Given the description of an element on the screen output the (x, y) to click on. 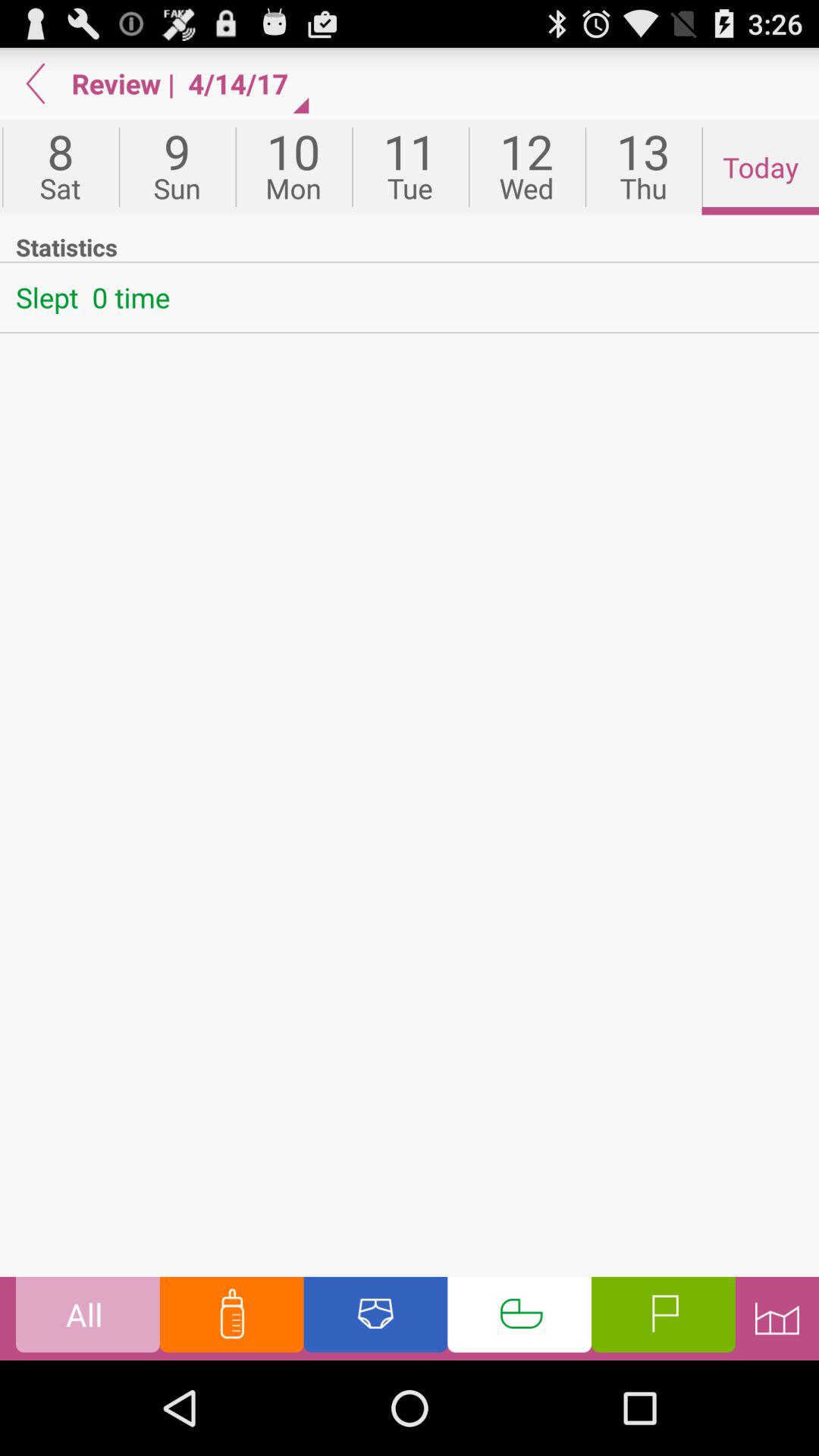
select the app next to the 10 (176, 166)
